Given the description of an element on the screen output the (x, y) to click on. 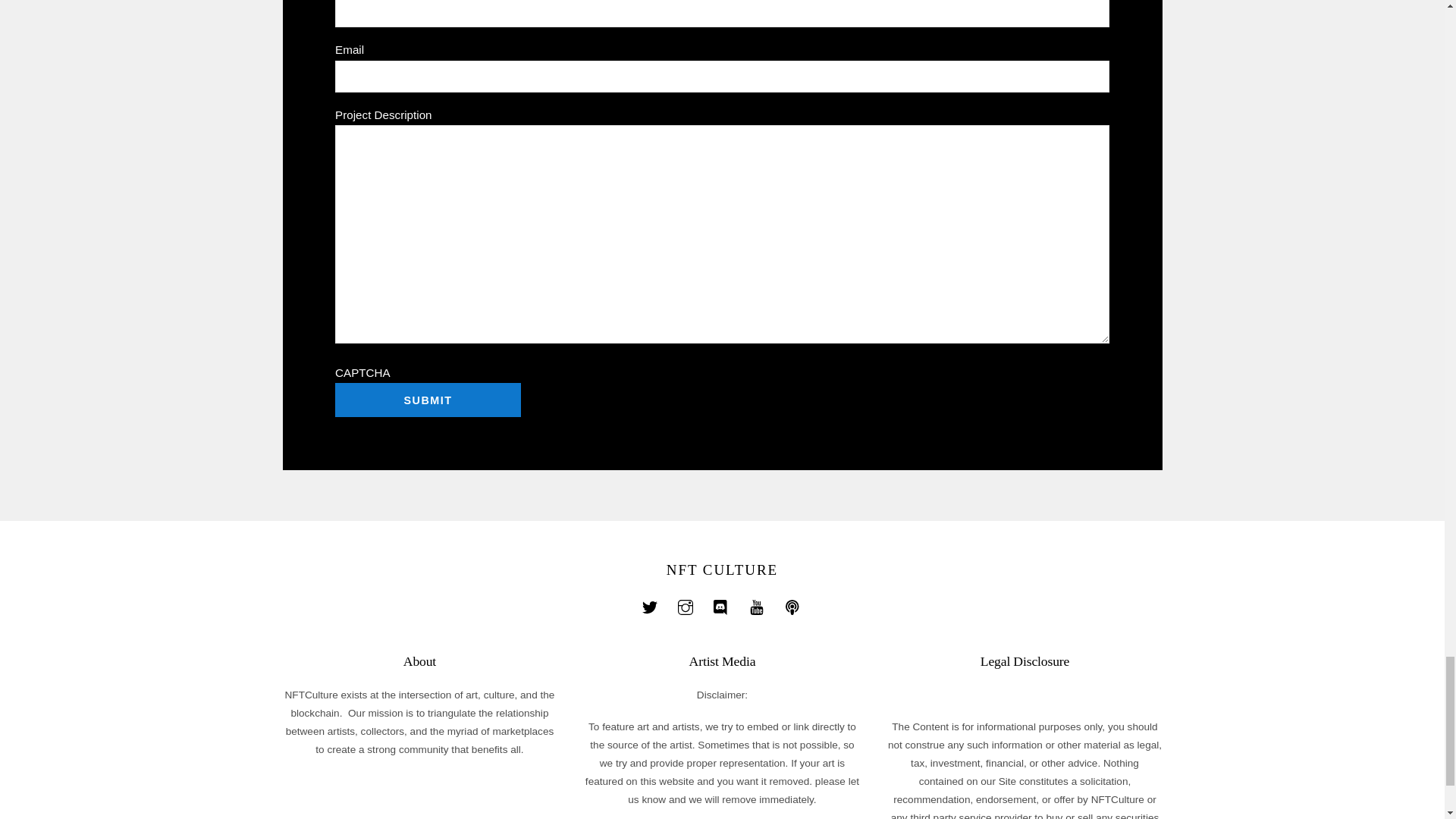
NFT CULTURE (721, 569)
Submit (427, 400)
